Given the description of an element on the screen output the (x, y) to click on. 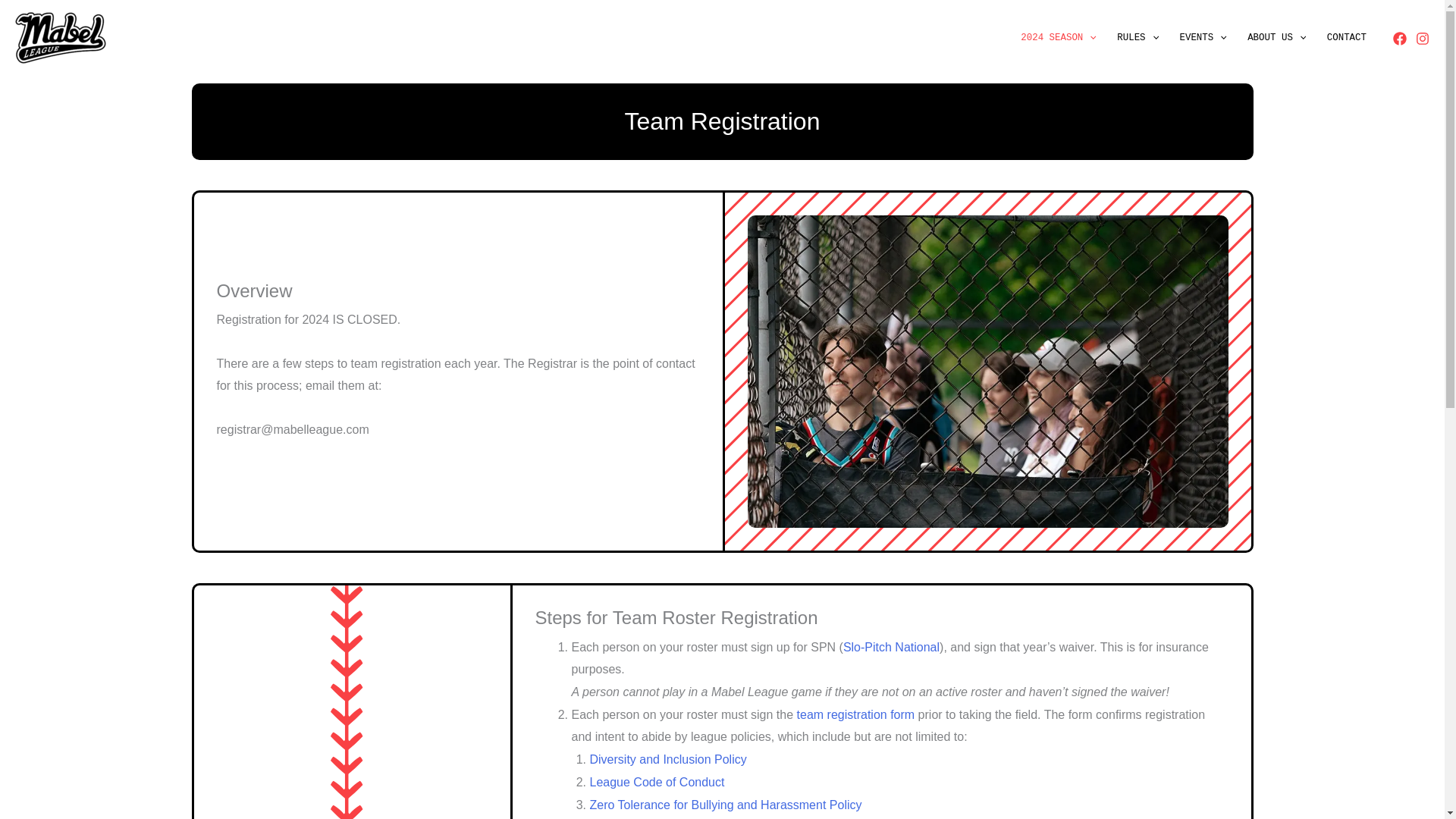
EVENTS (1204, 37)
RULES (1139, 37)
2024 SEASON (1059, 37)
ABOUT US (1278, 37)
CONTACT (1347, 37)
